Given the description of an element on the screen output the (x, y) to click on. 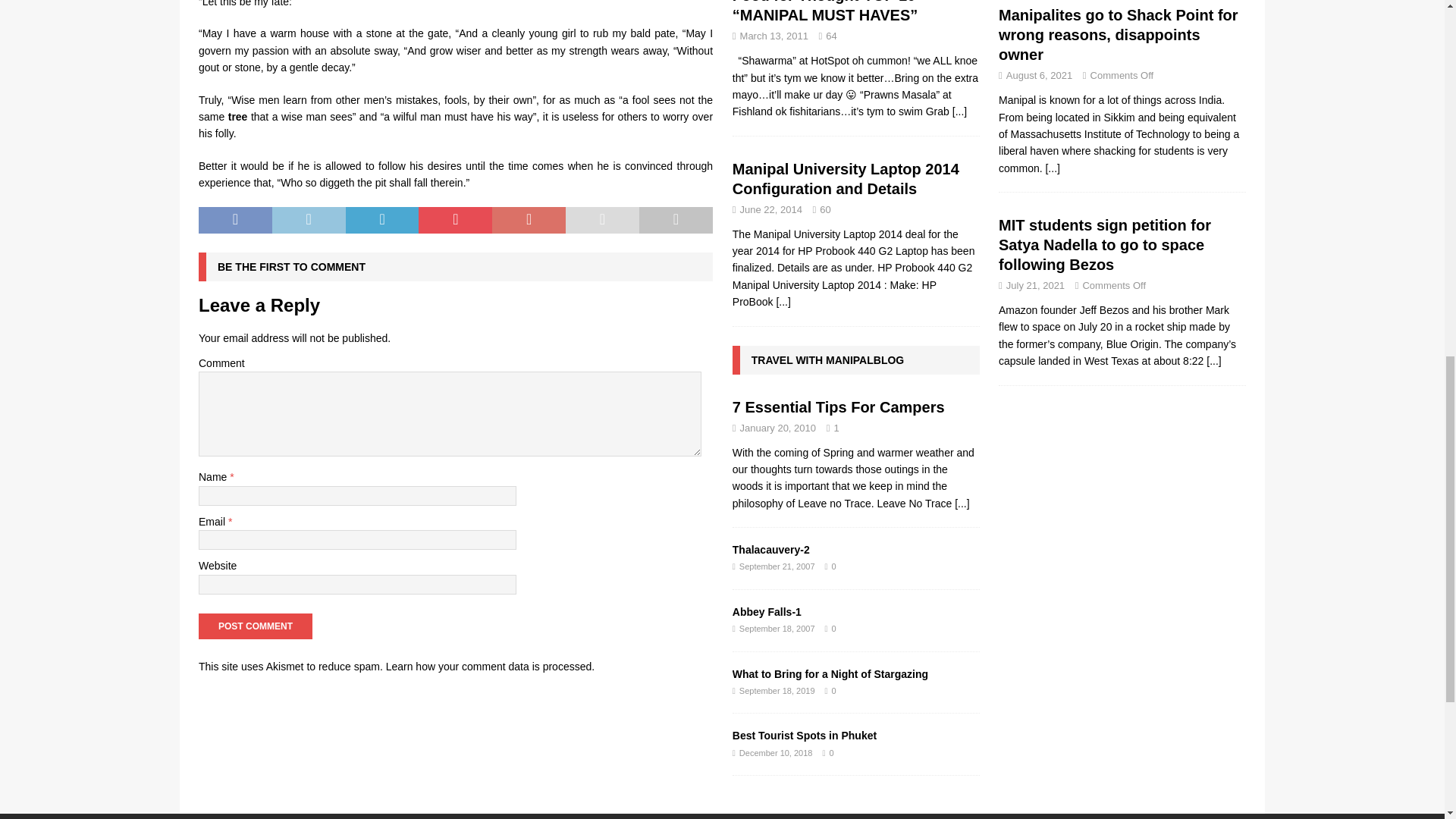
Learn how your comment data is processed (488, 666)
Post Comment (255, 626)
Post Comment (255, 626)
